Given the description of an element on the screen output the (x, y) to click on. 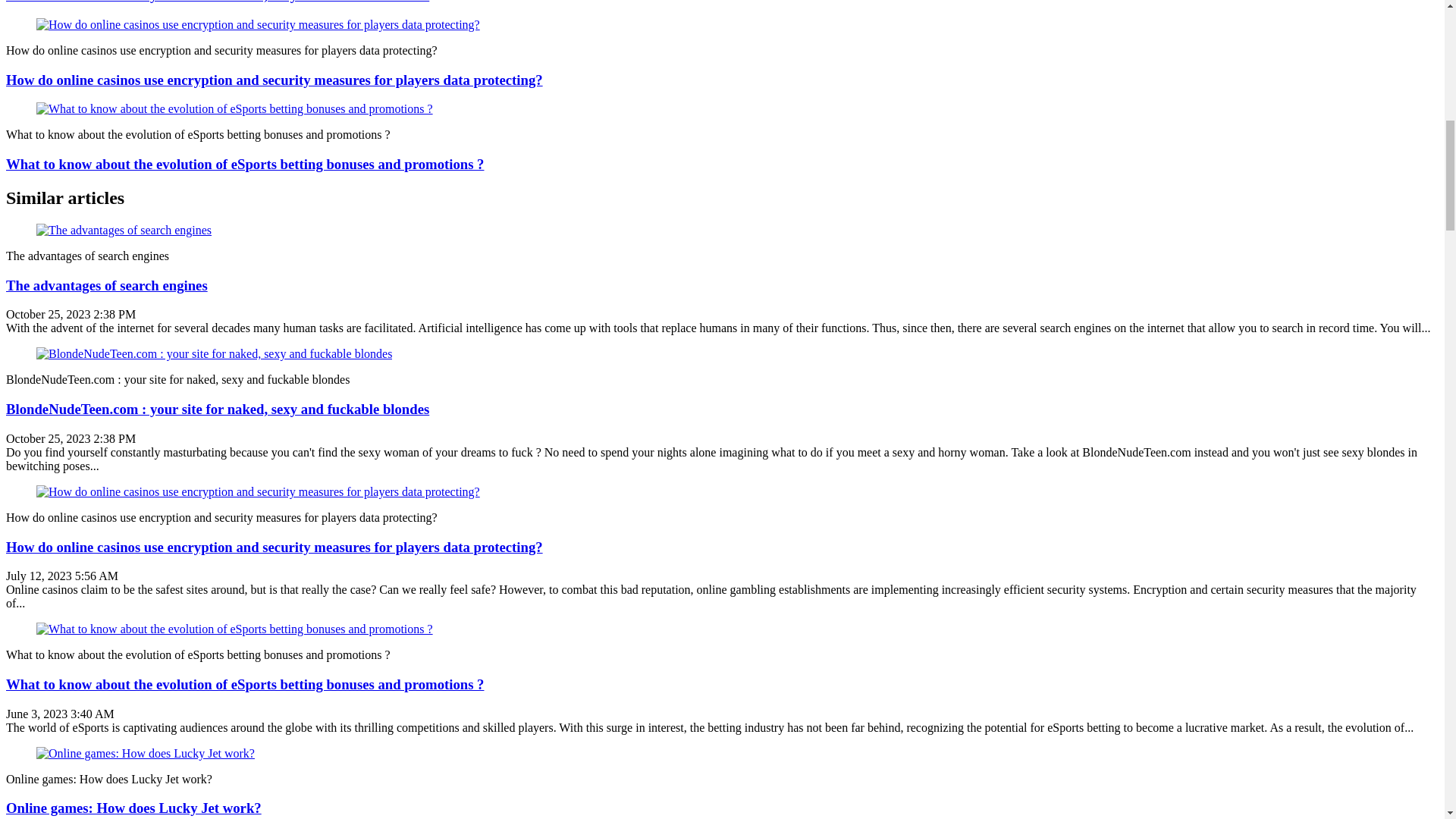
The advantages of search engines (106, 285)
